Given the description of an element on the screen output the (x, y) to click on. 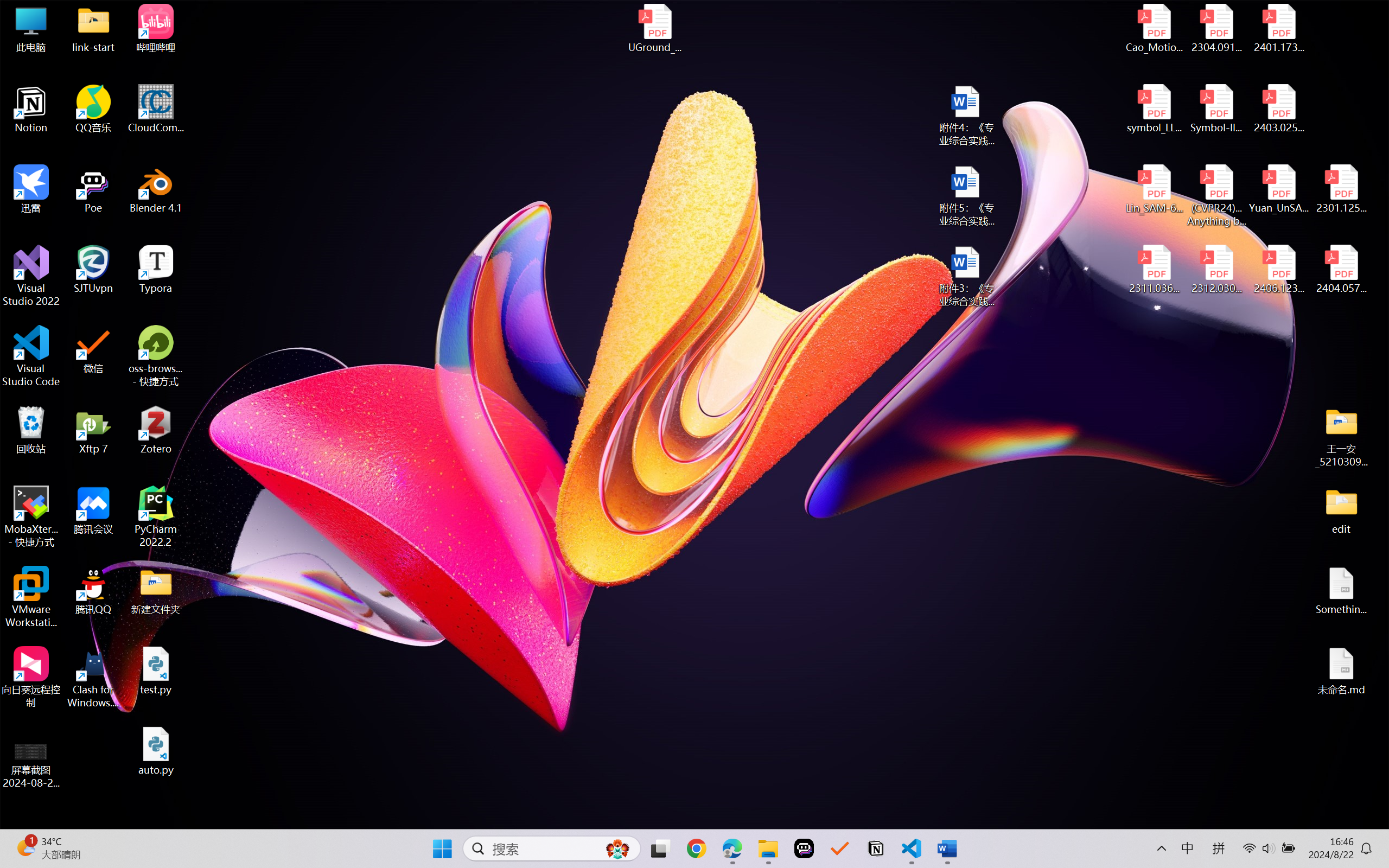
Xftp 7 (93, 430)
Visual Studio Code (31, 355)
edit (1340, 510)
UGround_paper.pdf (654, 28)
